Given the description of an element on the screen output the (x, y) to click on. 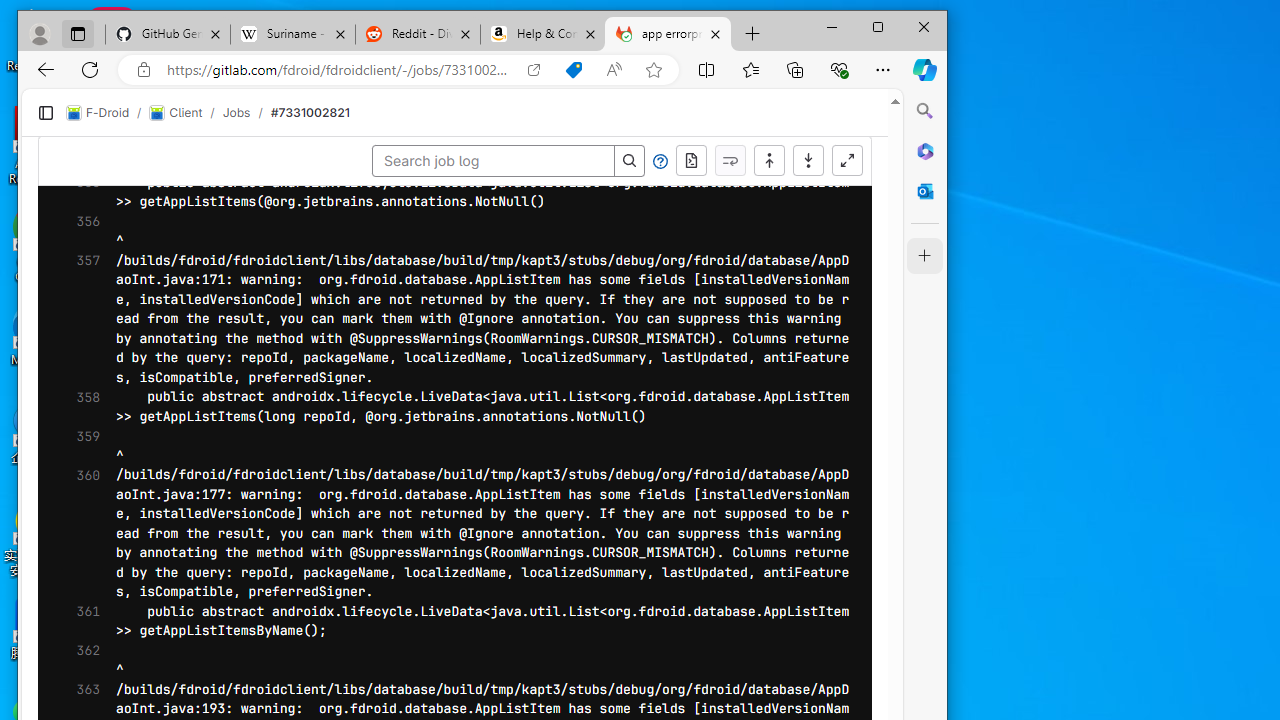
402 (73, 293)
420 (73, 645)
423 (73, 703)
397 (73, 196)
401 (73, 274)
393 (73, 118)
421 (73, 664)
403 (73, 313)
Client (394, 96)
411 (73, 469)
Client/ (404, 96)
414 (73, 527)
